Given the description of an element on the screen output the (x, y) to click on. 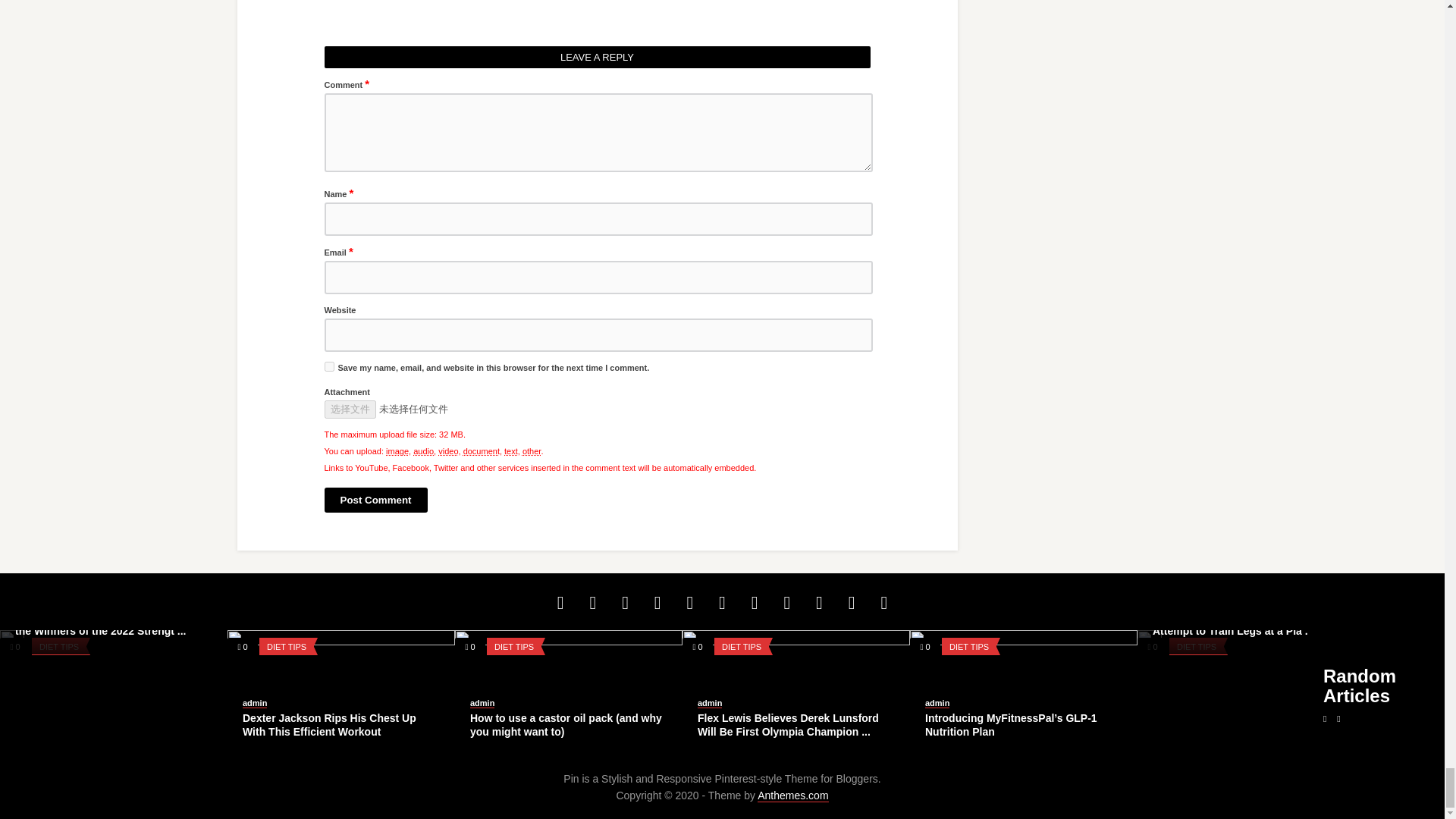
Post Comment (376, 499)
yes (329, 366)
